Given the description of an element on the screen output the (x, y) to click on. 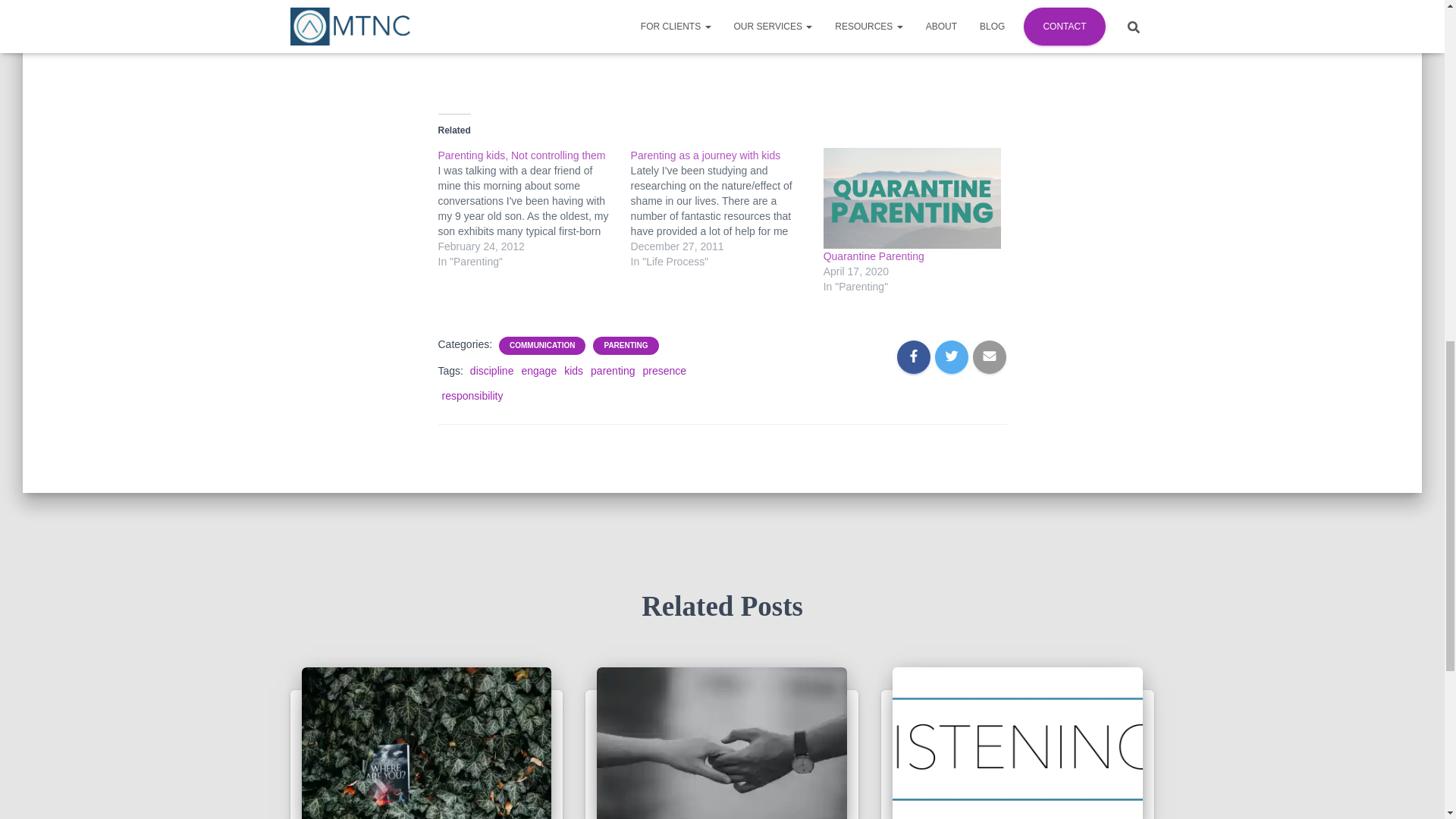
presence (663, 370)
Quarantine Parenting (874, 256)
kids (573, 370)
responsibility (471, 395)
engage (538, 370)
Parenting kids, Not controlling them (521, 155)
PARENTING (625, 345)
COMMUNICATION (542, 345)
Parenting as a journey with kids (705, 155)
discipline (491, 370)
parenting (612, 370)
